Given the description of an element on the screen output the (x, y) to click on. 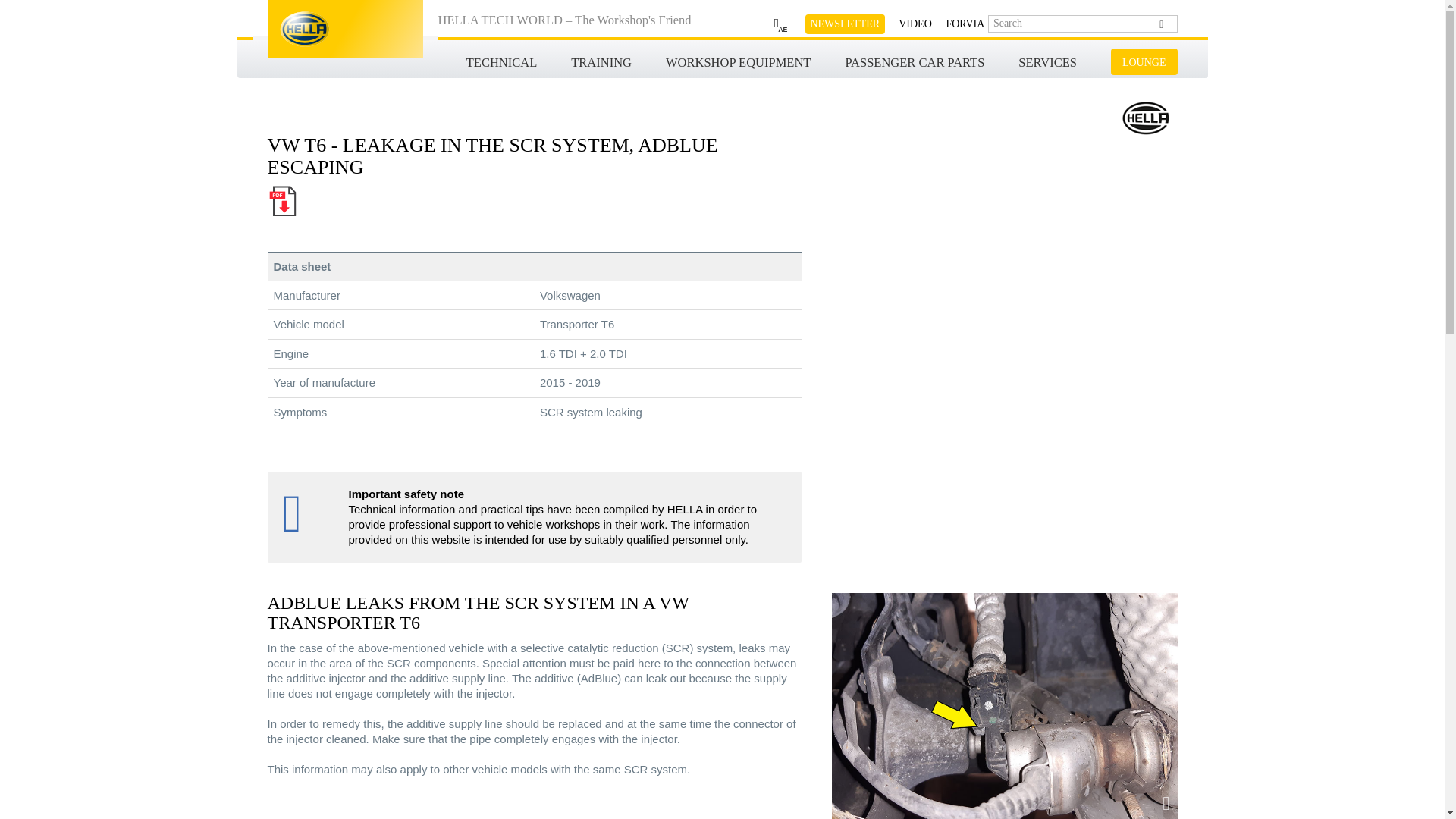
FORVIA (958, 23)
VIDEO (908, 23)
TECHNICAL (501, 62)
AE (773, 24)
NEWSLETTER (845, 24)
